Given the description of an element on the screen output the (x, y) to click on. 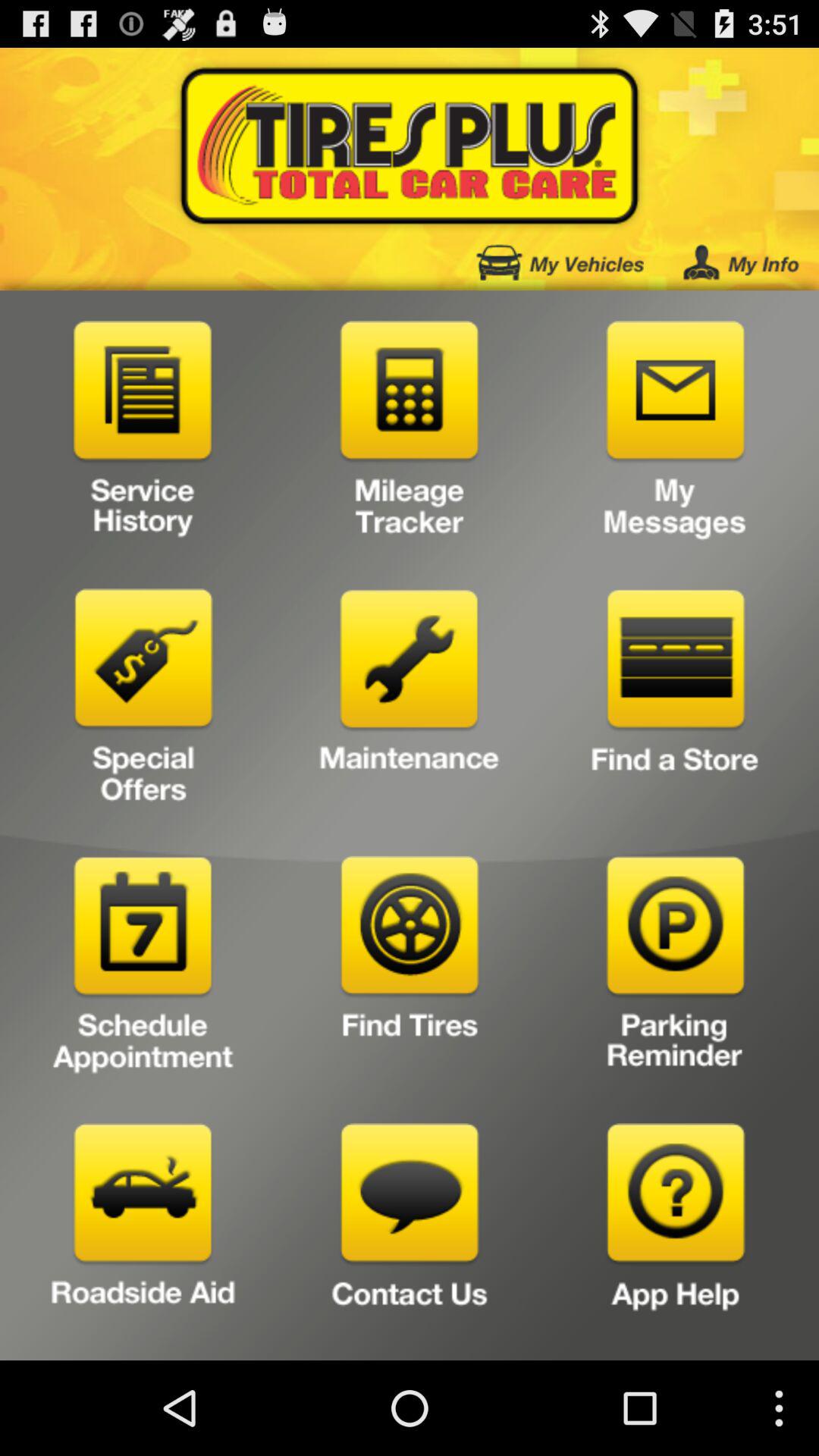
tap icon at the top left corner (142, 434)
